Given the description of an element on the screen output the (x, y) to click on. 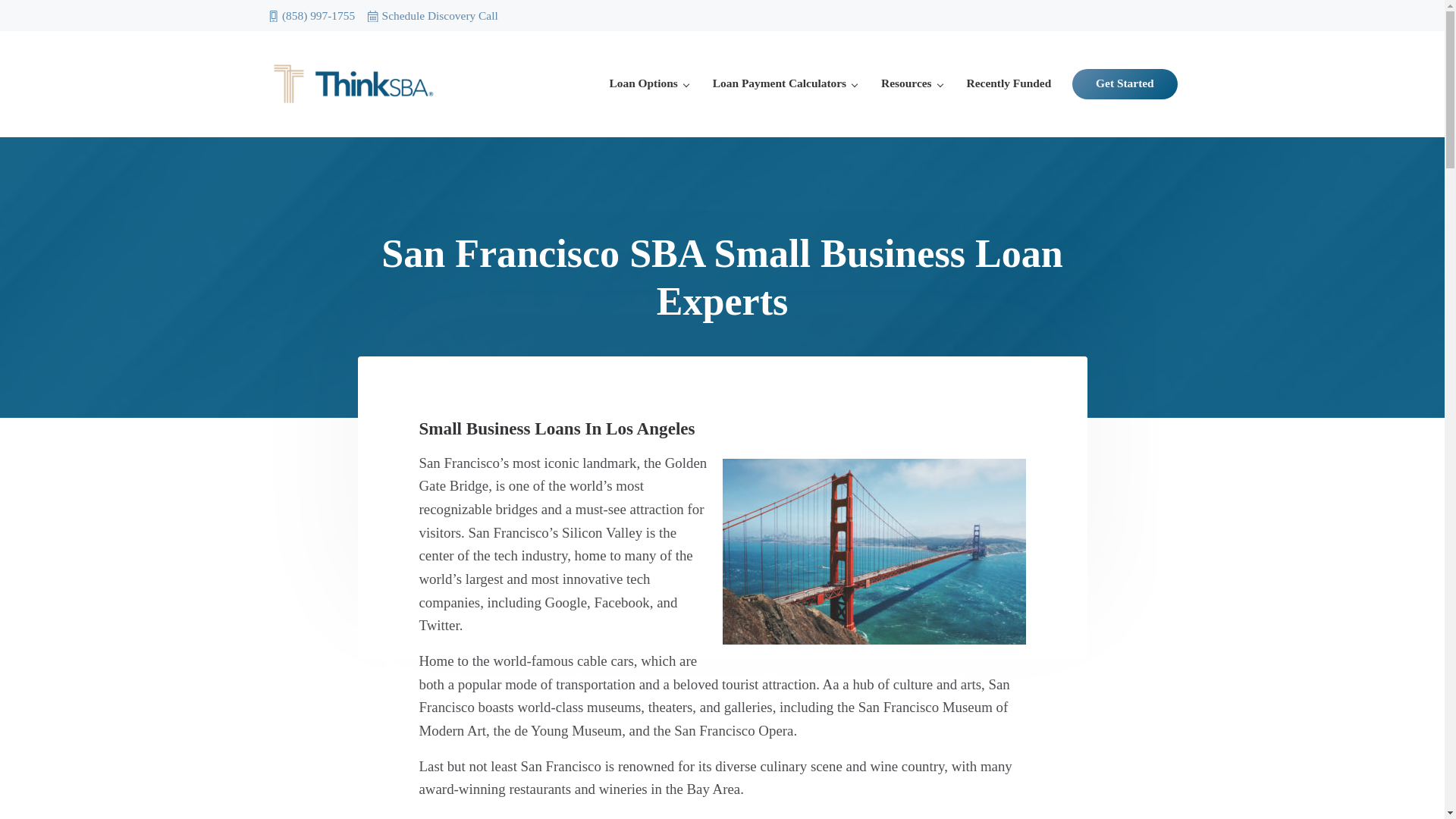
Loan Payment Calculators (784, 83)
Get Started (1123, 83)
Recently Funded (1009, 83)
small businesses (504, 817)
Resources (911, 83)
Loan Options (648, 83)
Schedule Discovery Call (431, 15)
